Given the description of an element on the screen output the (x, y) to click on. 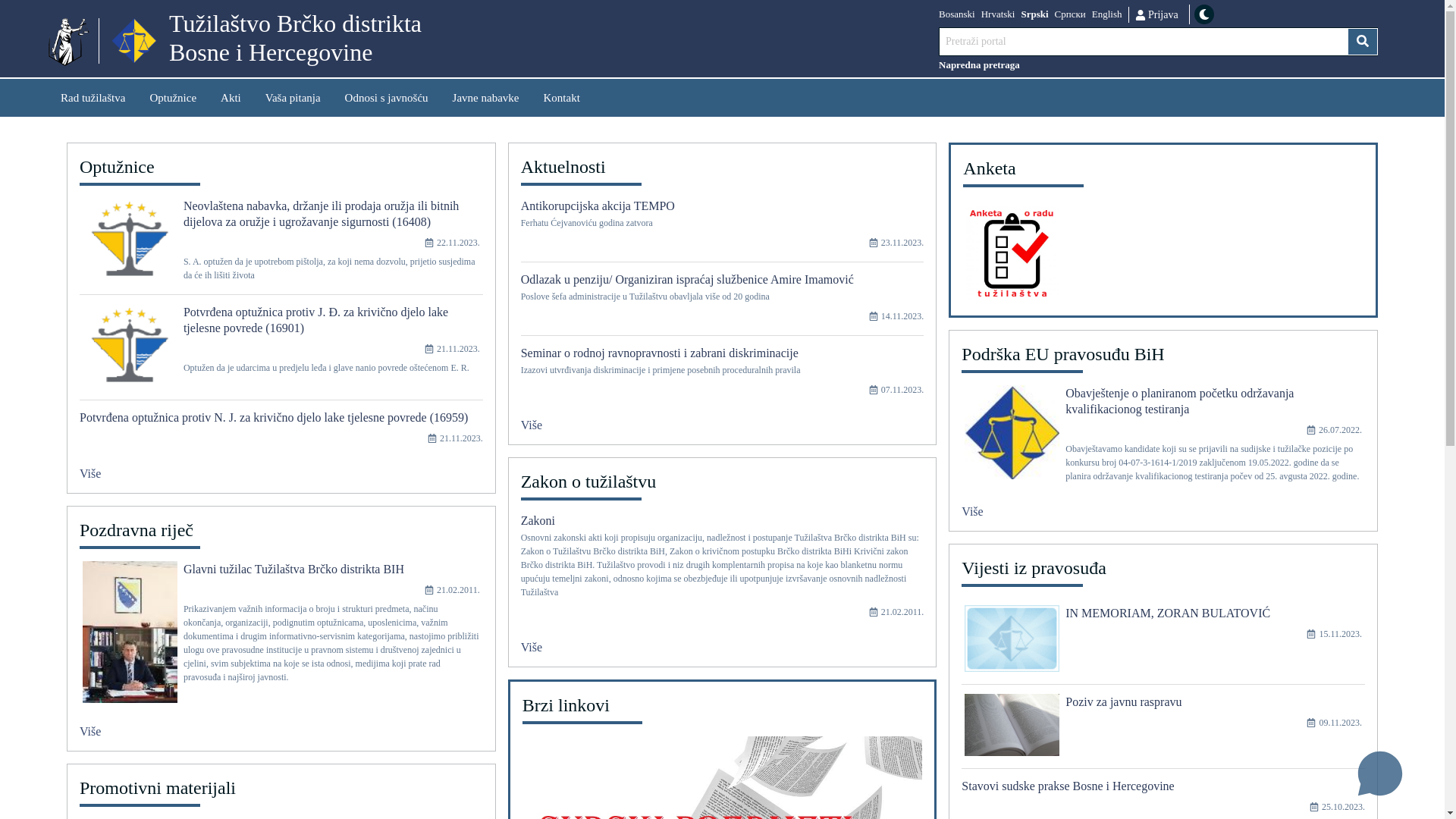
Akti Element type: text (230, 97)
Napredna pretraga Element type: text (1157, 65)
Kontakt Element type: text (560, 97)
Promotivni materijali Element type: text (281, 790)
Aktuelnosti Element type: text (722, 169)
Poziv za javnu raspravu
09.11.2023. Element type: text (1163, 730)
Javne nabavke Element type: text (485, 97)
Prijava Element type: text (1155, 13)
